Given the description of an element on the screen output the (x, y) to click on. 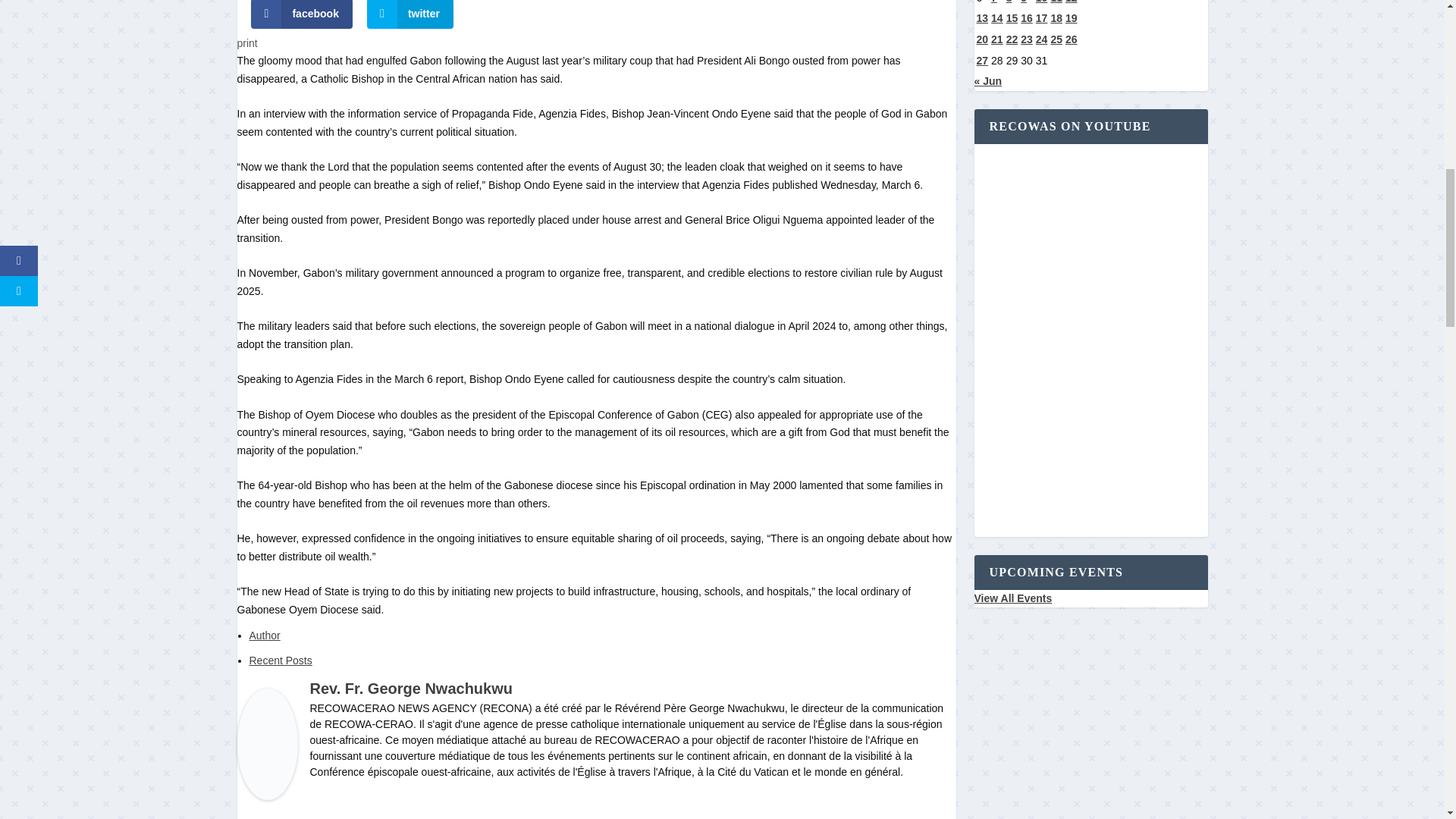
Recent Posts (279, 660)
Rev. Fr. George Nwachukwu (266, 796)
Rev. Fr. George Nwachukwu (410, 688)
facebook (301, 14)
Author (263, 635)
twitter (409, 14)
